Given the description of an element on the screen output the (x, y) to click on. 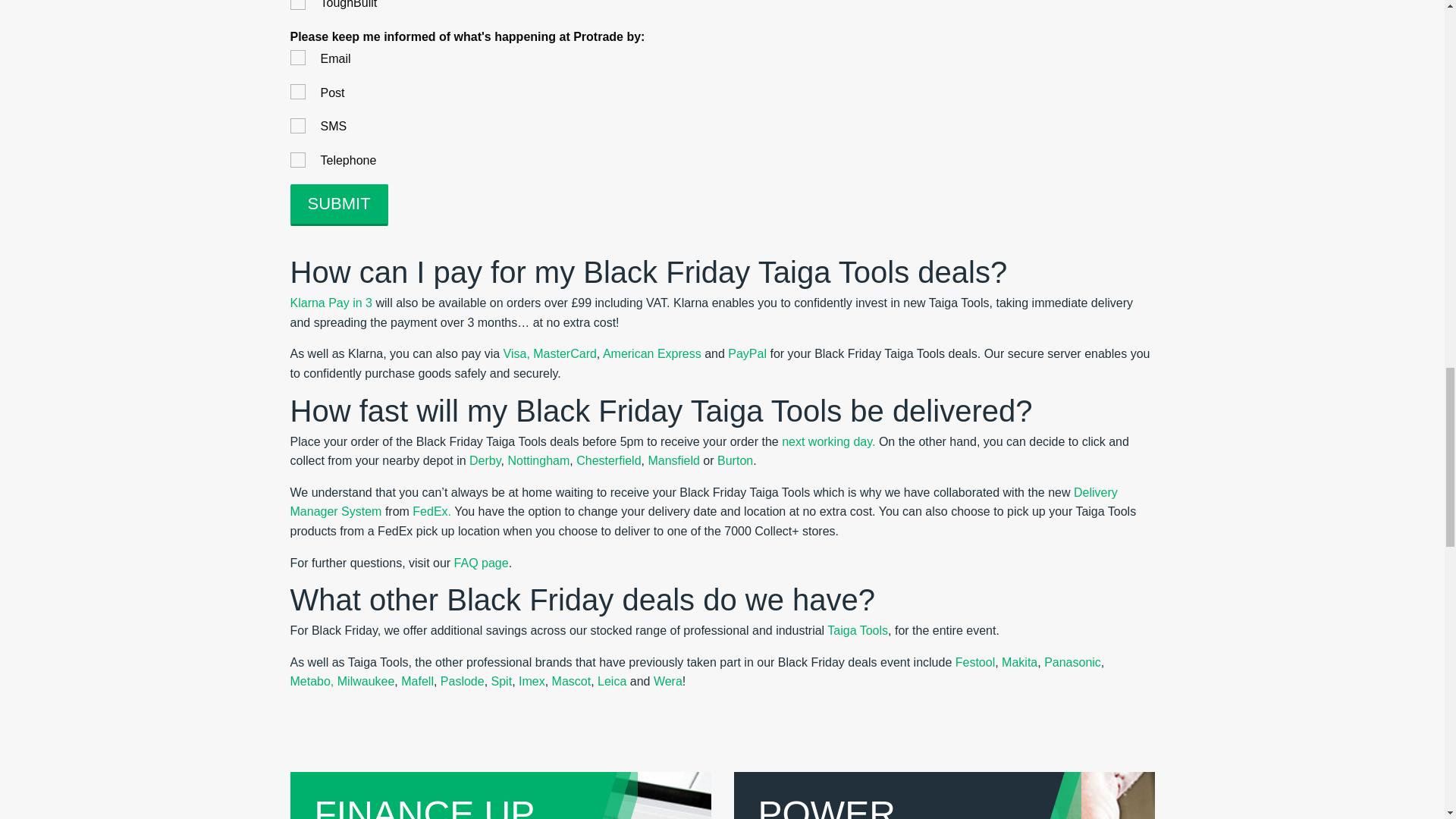
Post (298, 93)
ToughBuilt (298, 6)
Email (298, 58)
SMS (298, 126)
